Given the description of an element on the screen output the (x, y) to click on. 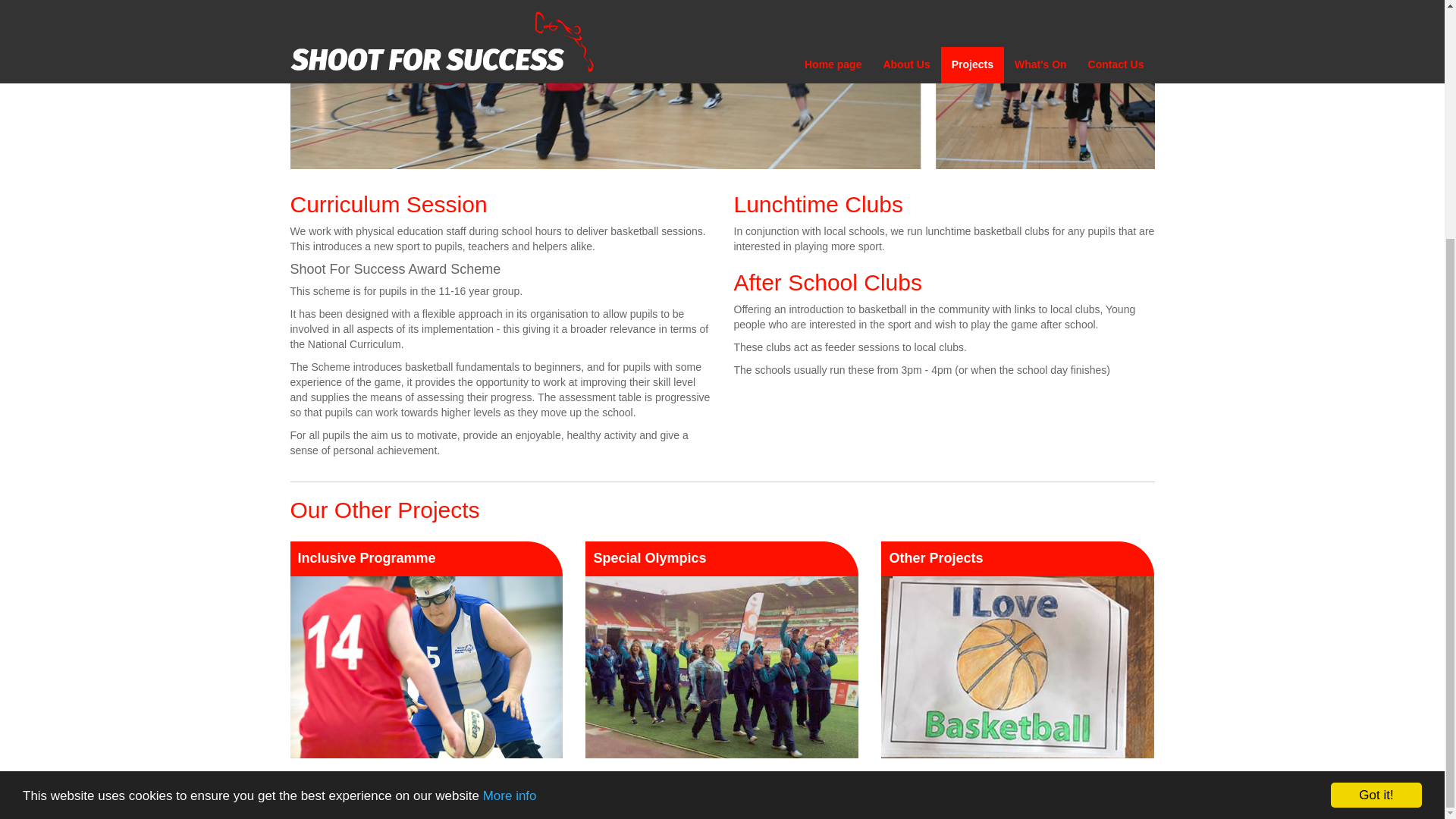
Special Olympics (721, 649)
Privacy Policy (708, 799)
Inclusive Programme (427, 649)
Log In (838, 799)
Site Map (782, 799)
Other Projects (1017, 649)
